Given the description of an element on the screen output the (x, y) to click on. 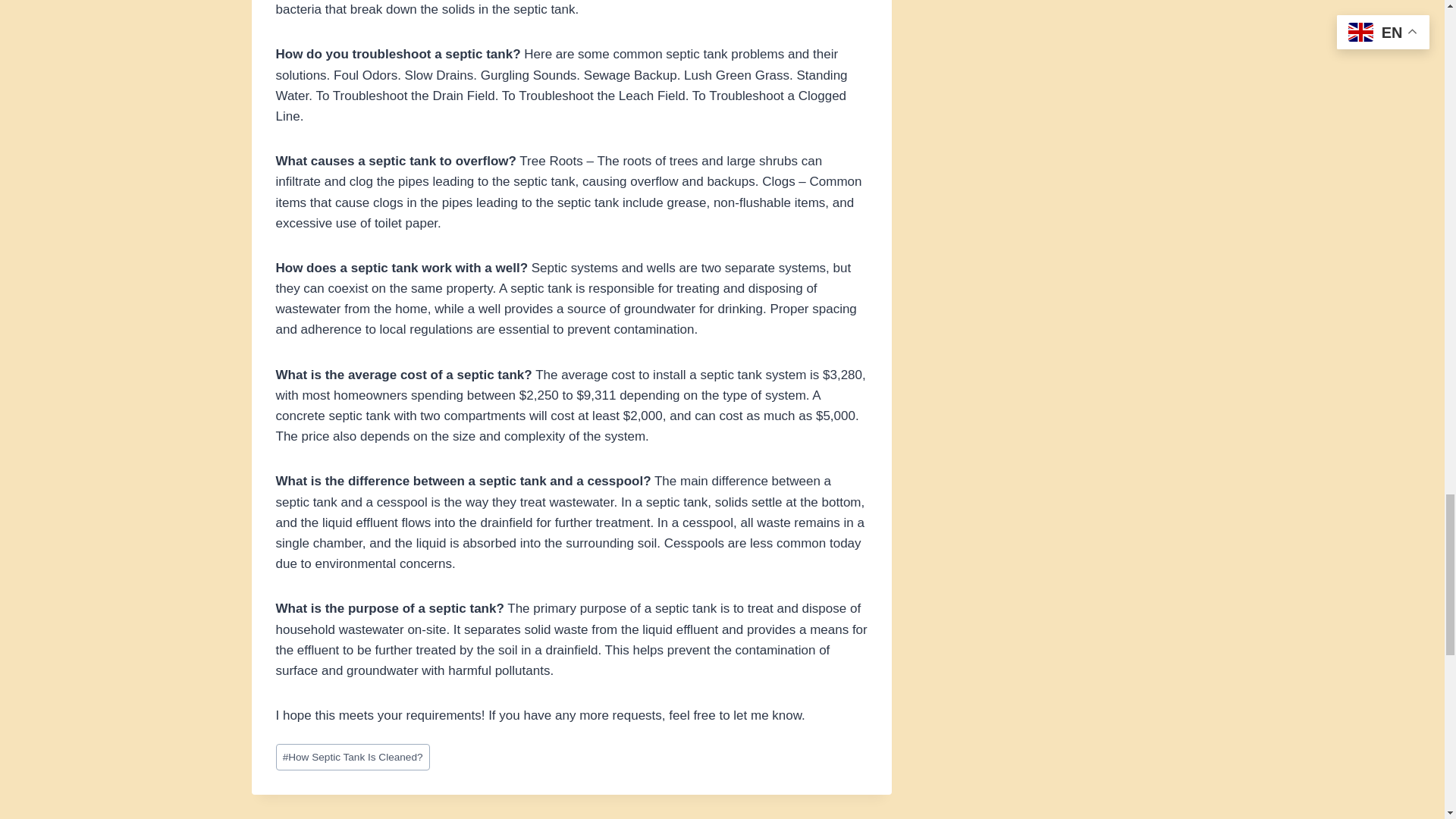
How Septic Tank Is Cleaned? (352, 756)
